Given the description of an element on the screen output the (x, y) to click on. 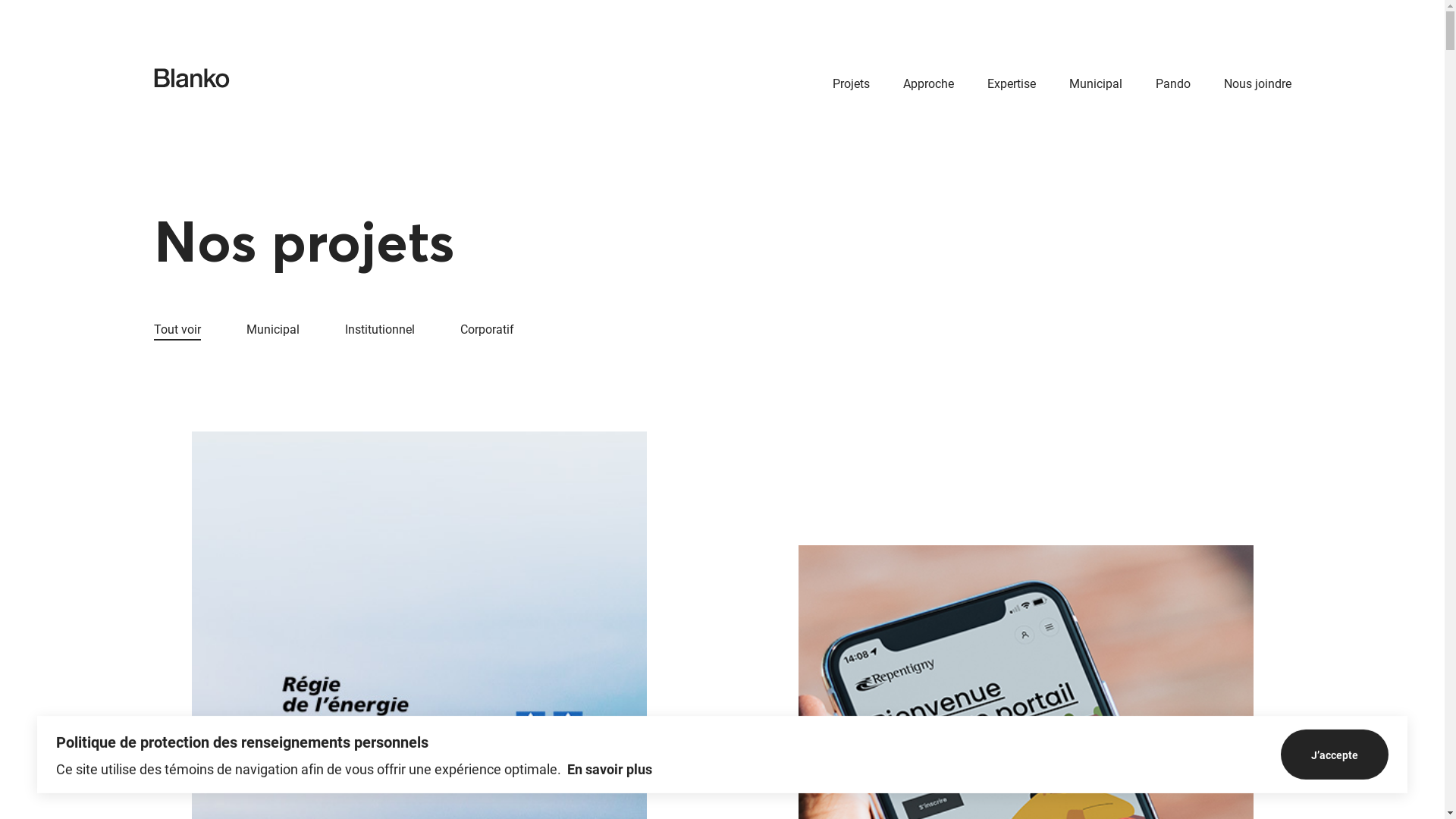
En savoir plus Element type: text (609, 768)
Projets Element type: text (850, 85)
Tout voir Element type: text (176, 330)
Logo Element type: text (191, 79)
Municipal Element type: text (271, 330)
Municipal Element type: text (1095, 85)
Pando Element type: text (1172, 85)
Institutionnel Element type: text (379, 330)
Nous joindre Element type: text (1257, 85)
Expertise Element type: text (1011, 85)
Corporatif Element type: text (486, 330)
Approche Element type: text (927, 85)
